Given the description of an element on the screen output the (x, y) to click on. 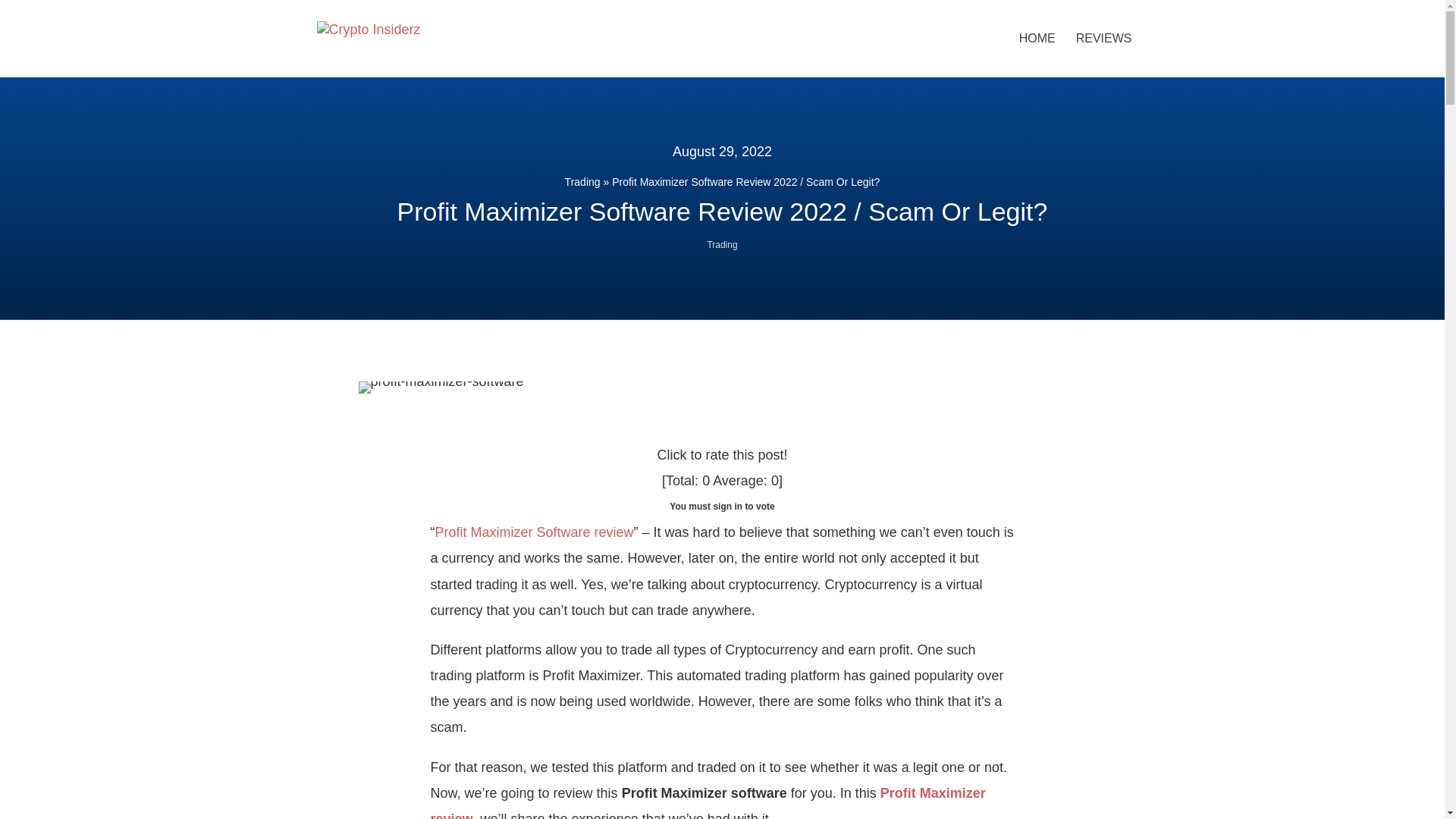
profit-maximizer-software (440, 387)
Profit Maximizer Software review (534, 531)
REVIEWS (1103, 54)
Profit Maximizer review (707, 802)
Trading (581, 182)
Trading (721, 244)
